Given the description of an element on the screen output the (x, y) to click on. 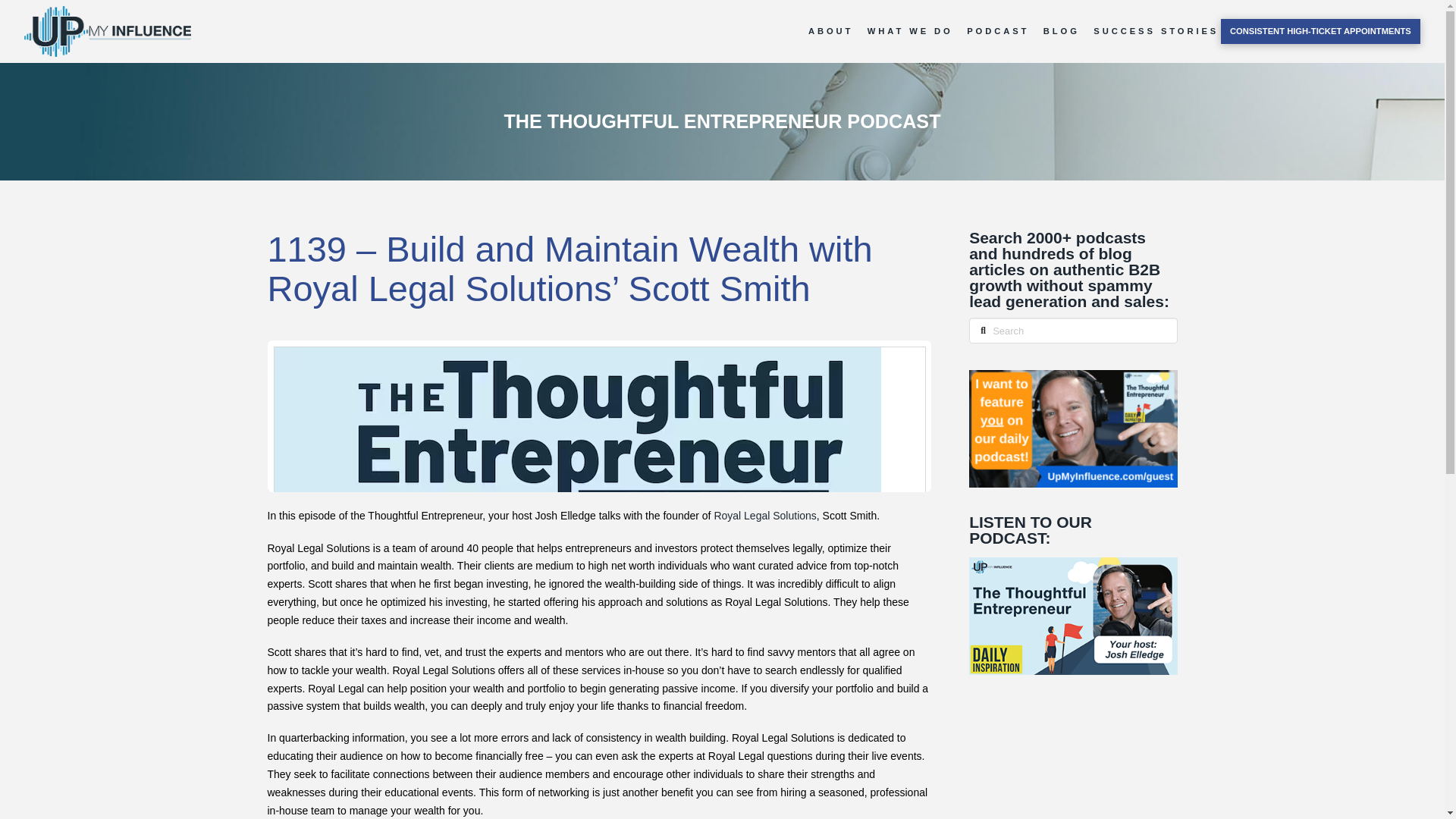
ABOUT (826, 31)
PODCAST (992, 31)
SUCCESS STORIES (1150, 31)
Royal Legal Solutions (764, 515)
WHAT WE DO (905, 31)
CONSISTENT HIGH-TICKET APPOINTMENTS (1321, 31)
